Given the description of an element on the screen output the (x, y) to click on. 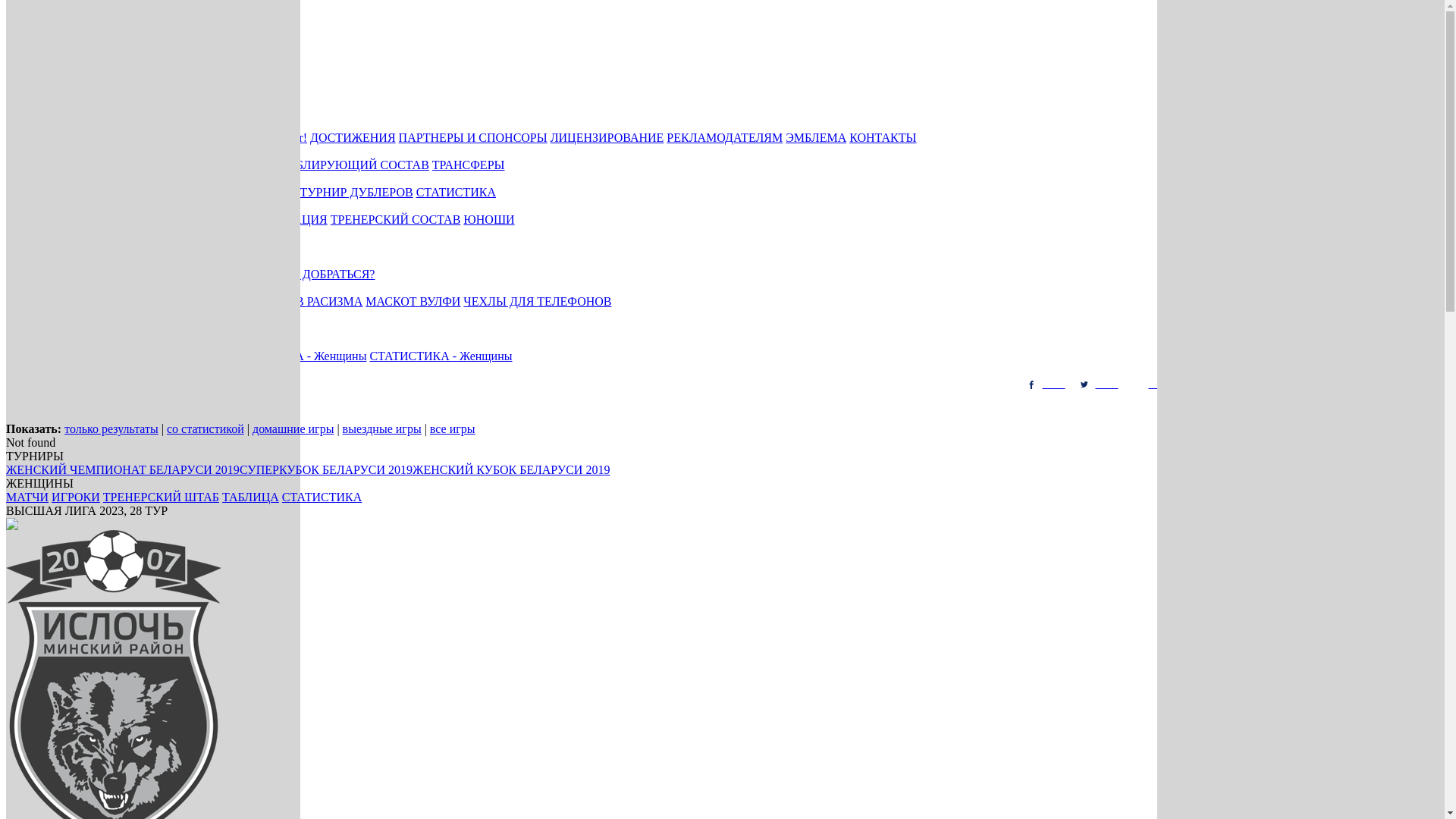
3148 Element type: text (1046, 383)
927 Element type: text (1309, 383)
9597 Element type: text (1205, 383)
1370 Element type: text (1152, 383)
8148 Element type: text (1258, 383)
3355 Element type: text (1411, 383)
1036 Element type: text (1358, 383)
1366 Element type: text (1099, 383)
